Given the description of an element on the screen output the (x, y) to click on. 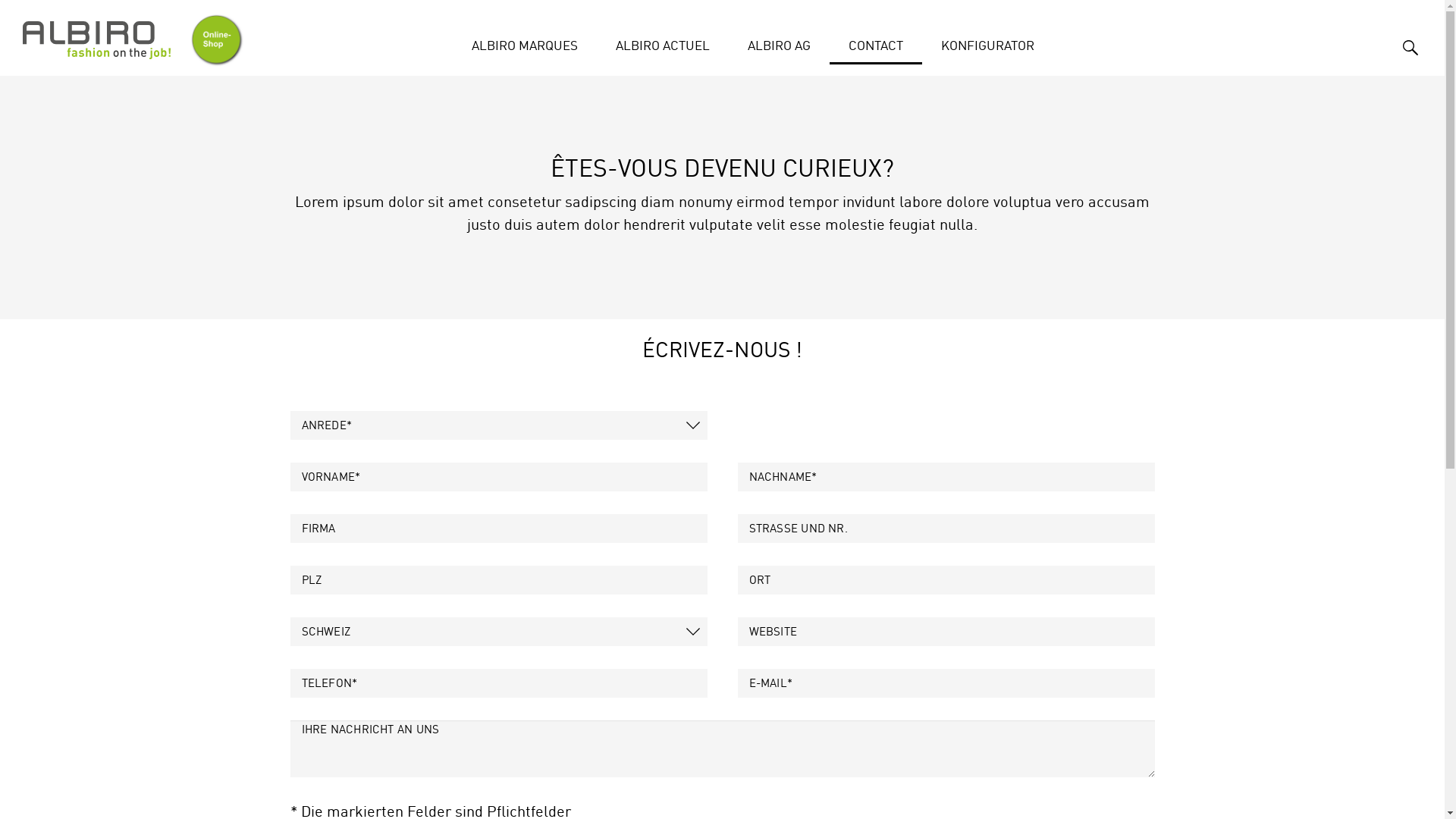
ALBIRO MARQUES Element type: text (523, 40)
ALBIRO ACTUEL Element type: text (662, 40)
KONFIGURATOR Element type: text (987, 39)
ALBIRO AG Element type: text (778, 39)
CONTACT Element type: text (875, 40)
